Given the description of an element on the screen output the (x, y) to click on. 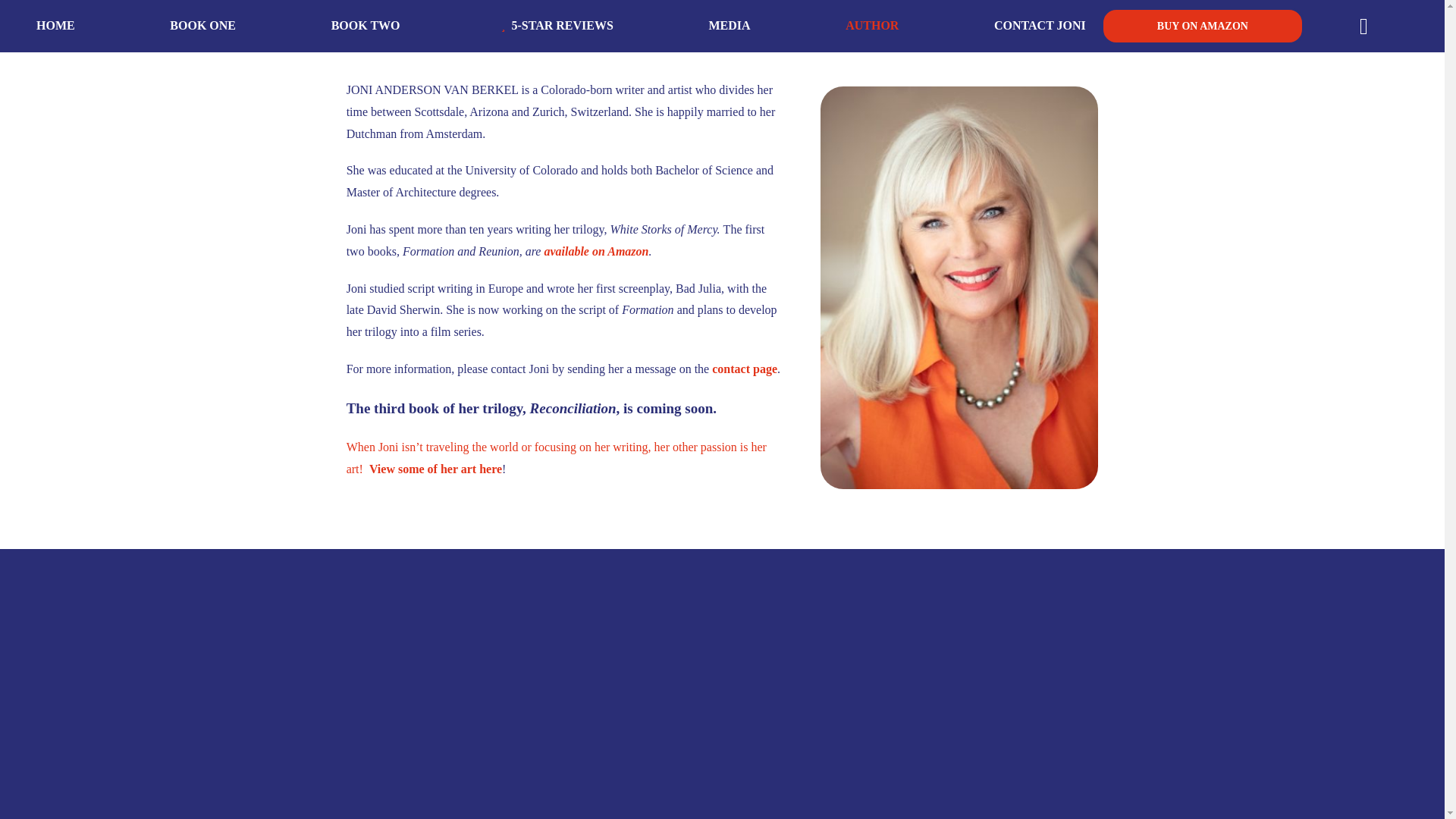
BOOK ONE (202, 25)
available on Amazon (595, 250)
AUTHOR (871, 25)
BOOK TWO (365, 25)
View some of her art here (435, 468)
HOME (55, 25)
contact page (744, 368)
CONTACT JONI (1040, 25)
BUY ON AMAZON (1202, 26)
5-STAR REVIEWS (553, 25)
MEDIA (728, 25)
